Given the description of an element on the screen output the (x, y) to click on. 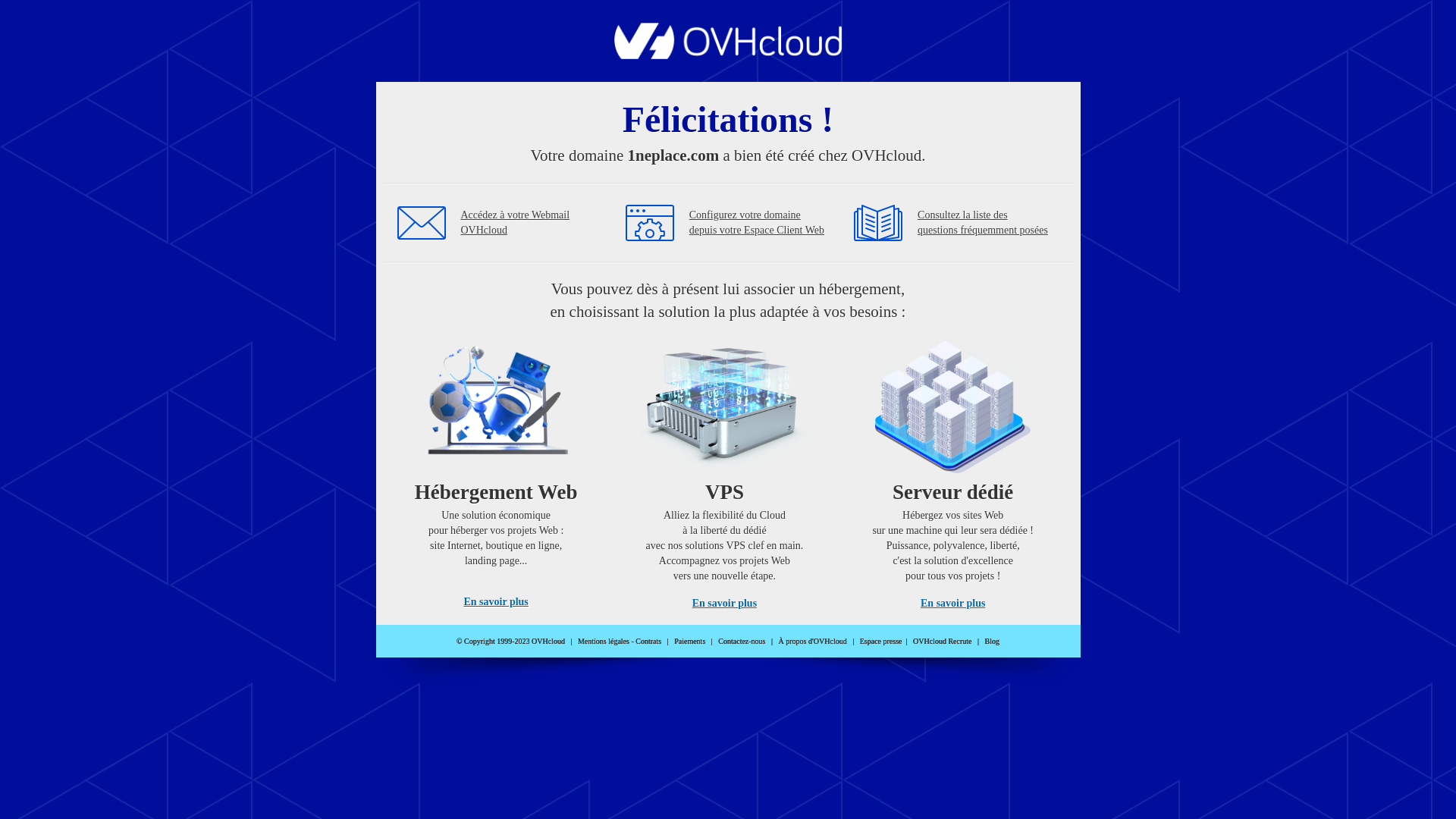
OVHcloud Recrute Element type: text (942, 641)
Contactez-nous Element type: text (741, 641)
En savoir plus Element type: text (952, 602)
Paiements Element type: text (689, 641)
Configurez votre domaine
depuis votre Espace Client Web Element type: text (756, 222)
Blog Element type: text (992, 641)
Espace presse Element type: text (880, 641)
VPS Element type: hover (724, 469)
En savoir plus Element type: text (495, 601)
En savoir plus Element type: text (724, 602)
OVHcloud Element type: hover (727, 54)
